Given the description of an element on the screen output the (x, y) to click on. 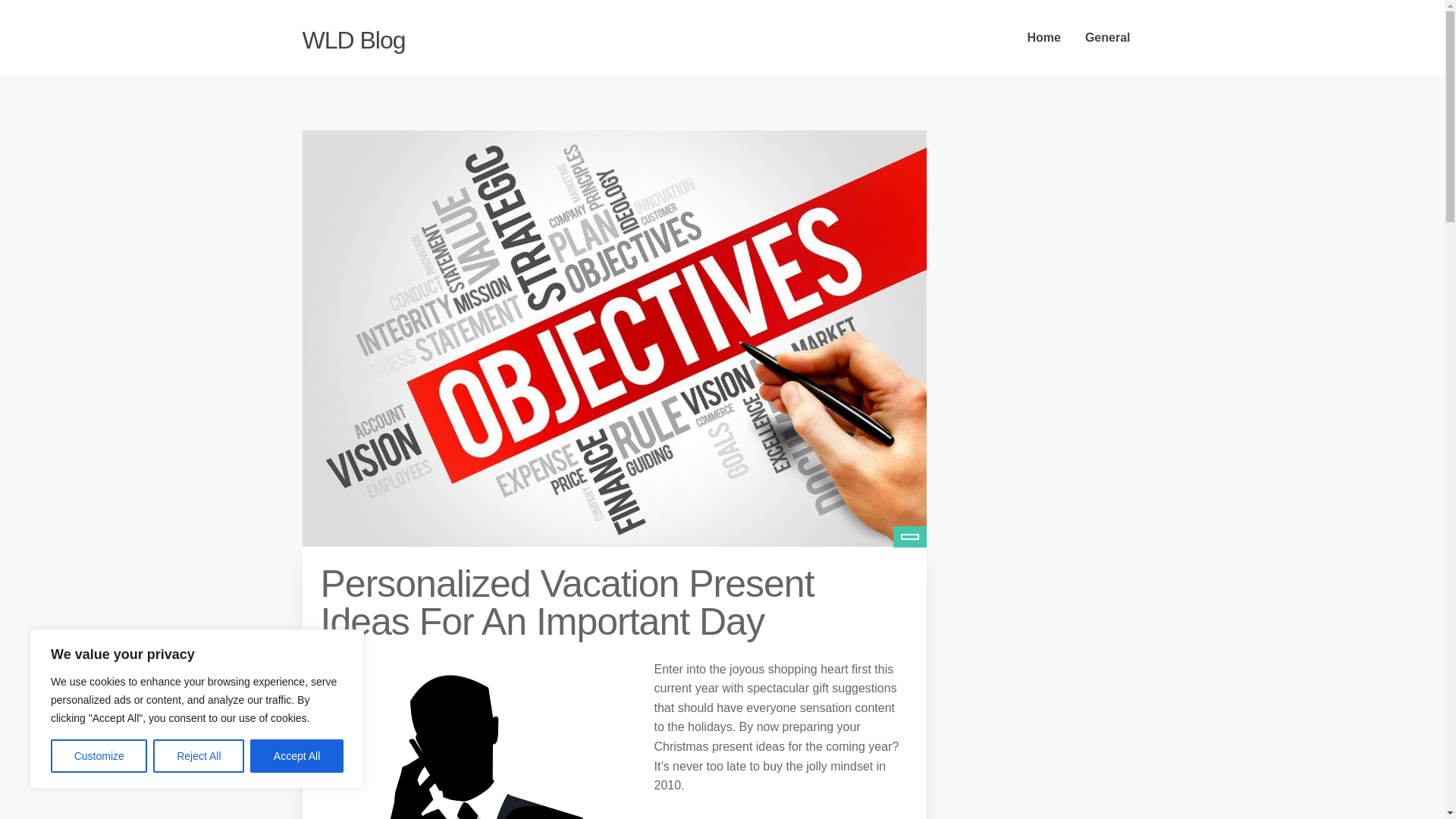
General (1107, 37)
Reject All (198, 756)
WLD Blog (352, 39)
Home (1042, 37)
Customize (98, 756)
Accept All (296, 756)
